Given the description of an element on the screen output the (x, y) to click on. 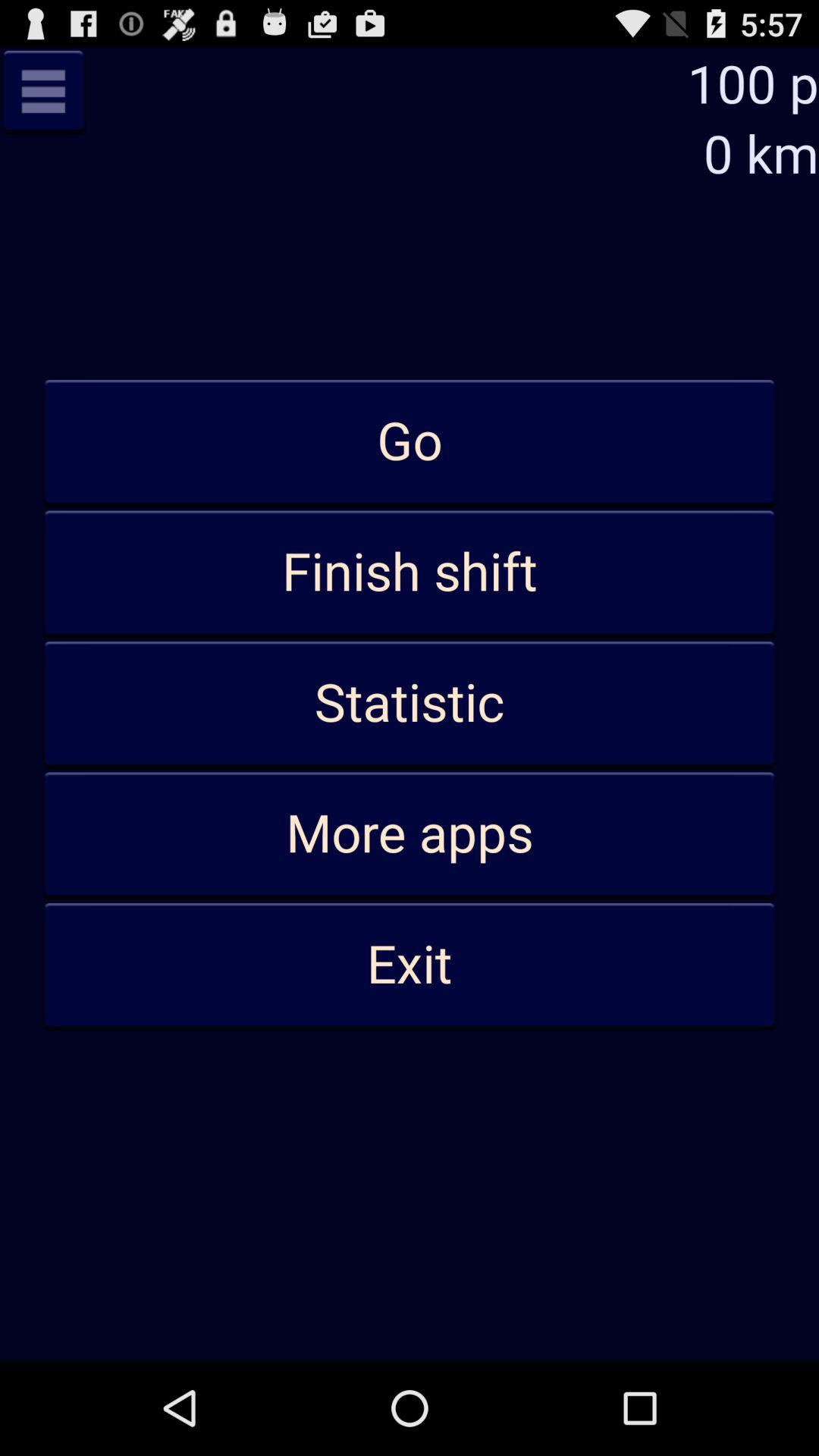
launch the app below the statistic app (409, 834)
